Given the description of an element on the screen output the (x, y) to click on. 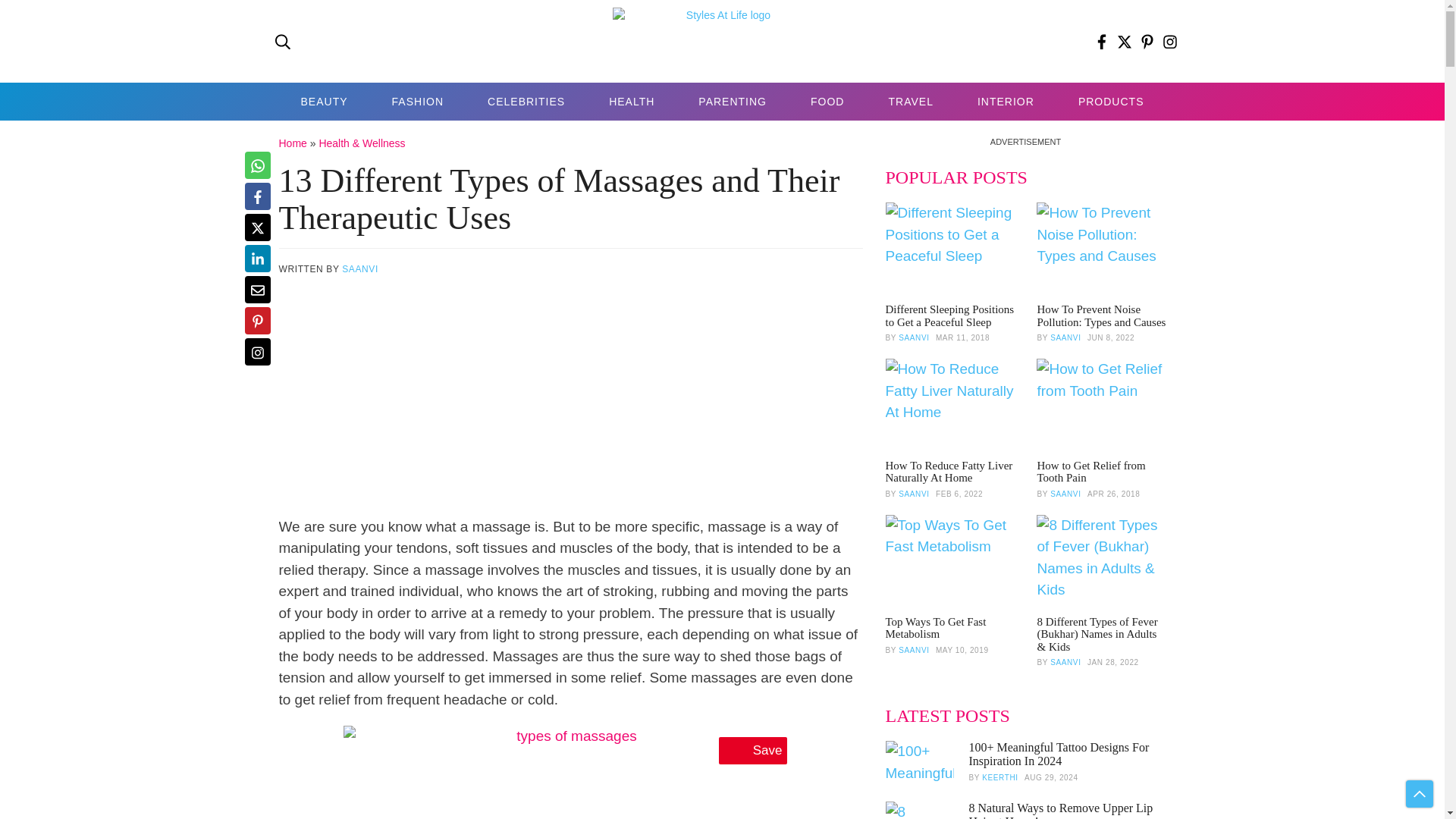
Top Ways To Get Fast Metabolism (949, 563)
Posts by Saanvi (1064, 337)
PARENTING (733, 101)
Share on WhatsApp (256, 165)
Email to a Friend (256, 289)
Pin on Pinterest (256, 320)
BEAUTY (324, 101)
FASHION (417, 101)
CELEBRITIES (525, 101)
SAANVI (360, 268)
